Given the description of an element on the screen output the (x, y) to click on. 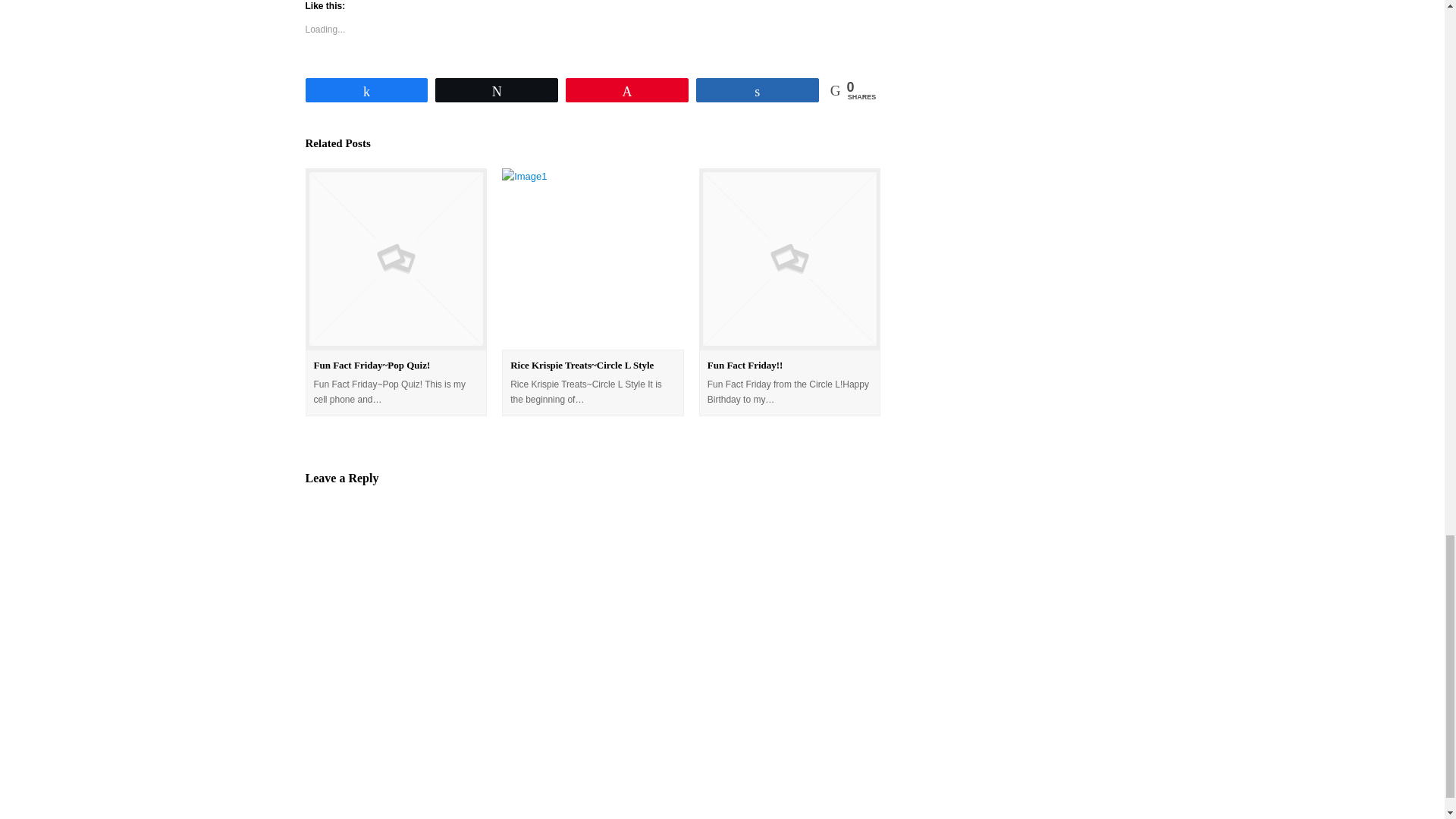
Fun Fact Friday!! (745, 365)
